Given the description of an element on the screen output the (x, y) to click on. 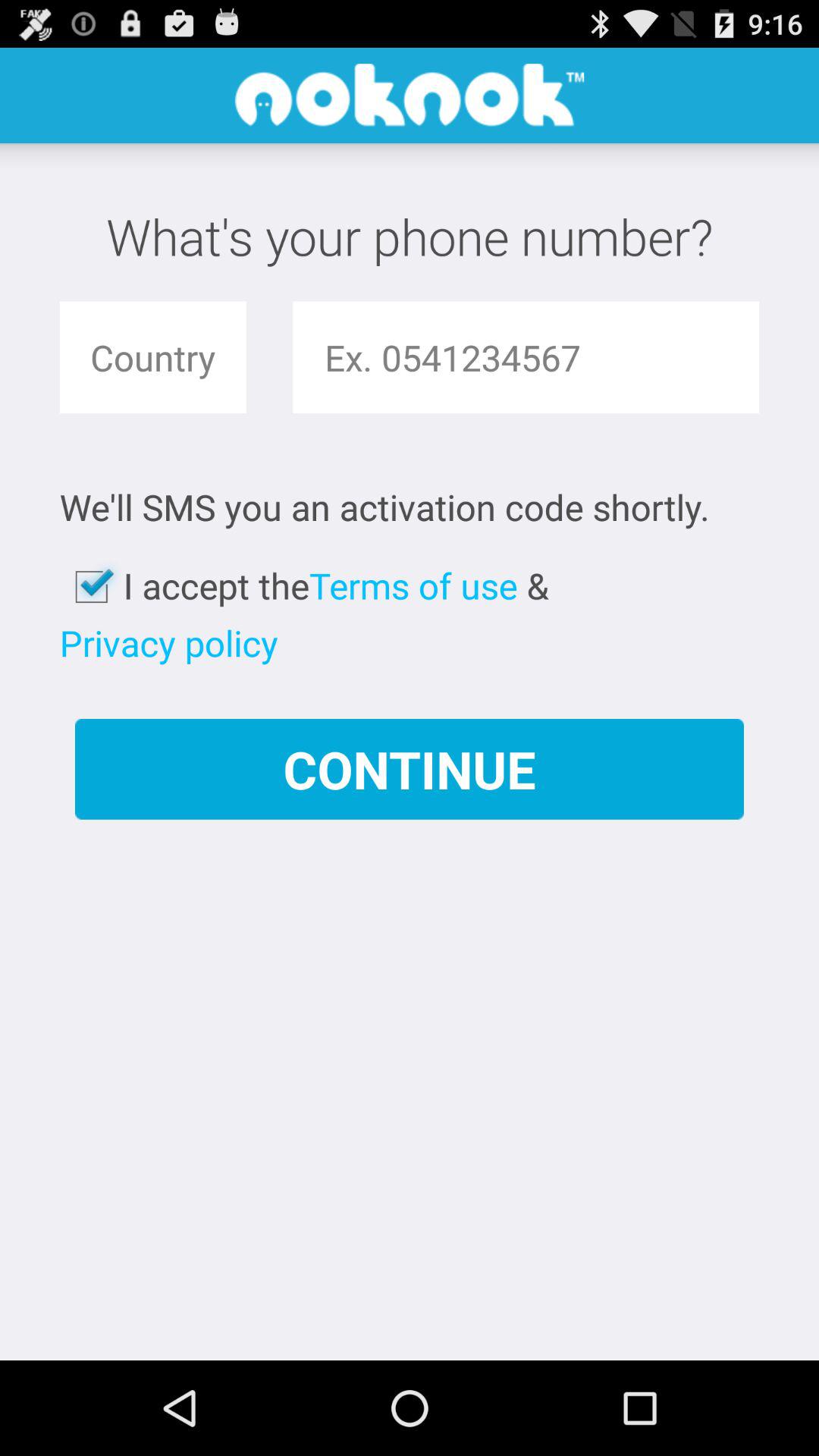
press icon to the left of terms of use (168, 642)
